Given the description of an element on the screen output the (x, y) to click on. 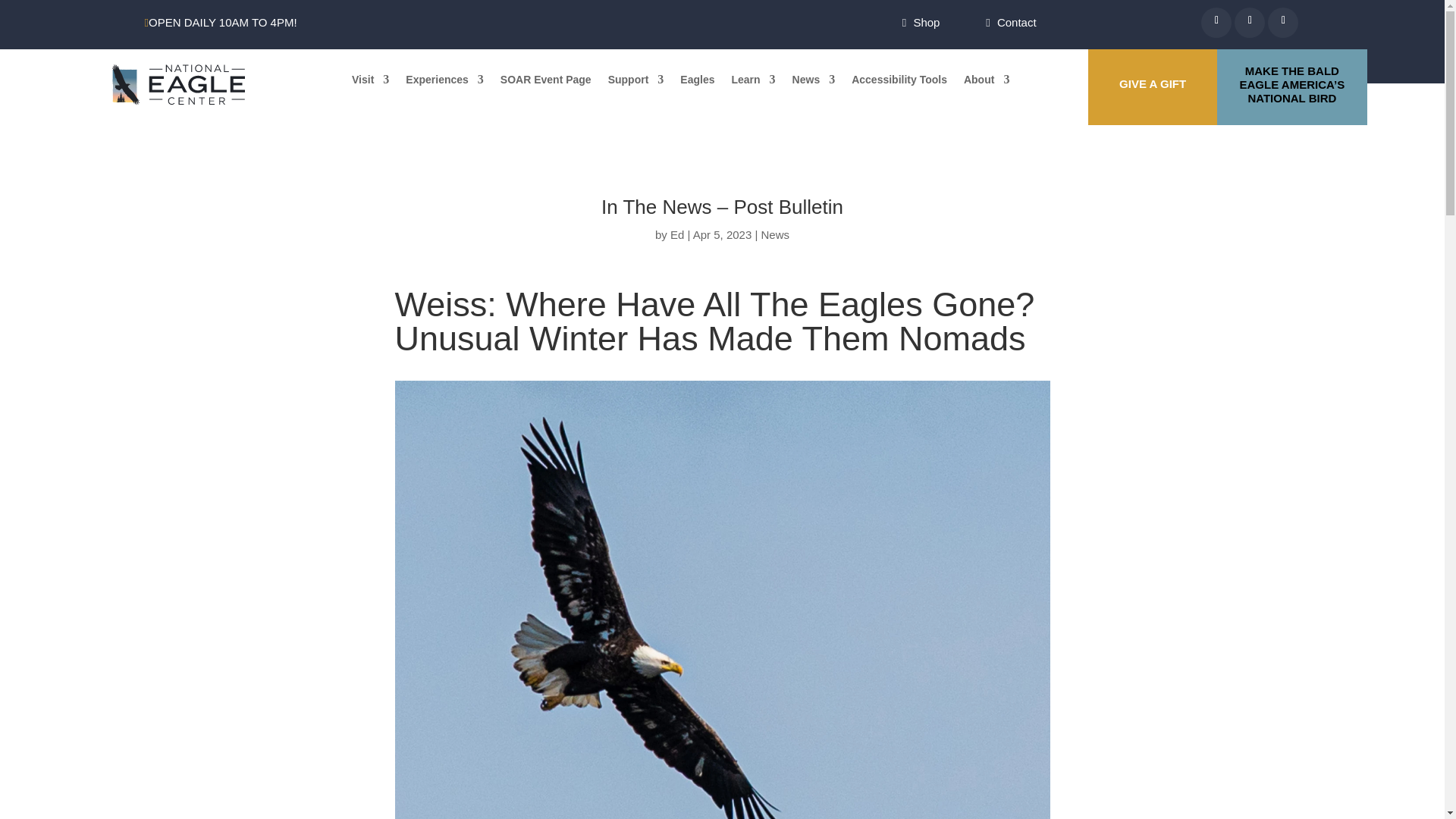
Follow on Youtube (1287, 27)
Contact (1016, 21)
Support (635, 82)
Eagles (696, 82)
Follow on Facebook (1220, 27)
Visit (370, 82)
Experiences (444, 82)
Posts by Ed (676, 234)
SOAR Event Page (545, 82)
Shop (925, 21)
Follow on Instagram (1253, 27)
logo (178, 84)
Learn (752, 82)
